Given the description of an element on the screen output the (x, y) to click on. 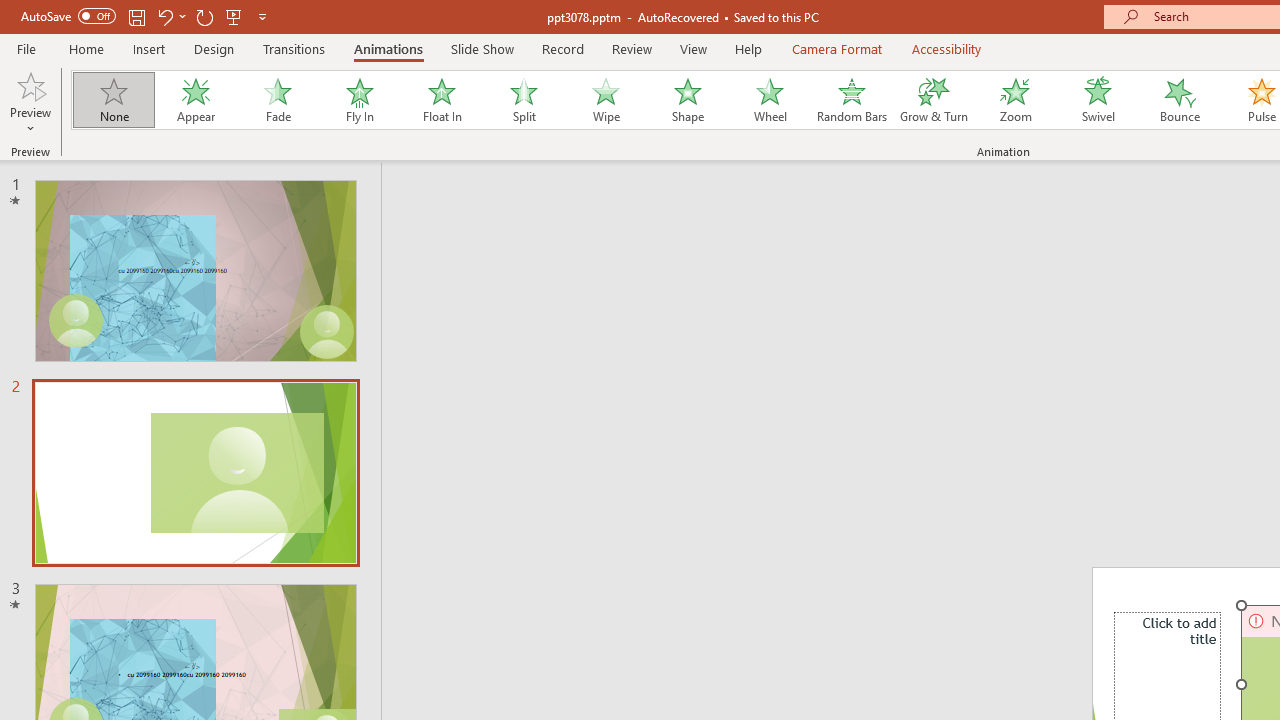
Camera Format (836, 48)
Appear (195, 100)
Float In (441, 100)
Grow & Turn (934, 100)
Bounce (1180, 100)
